Given the description of an element on the screen output the (x, y) to click on. 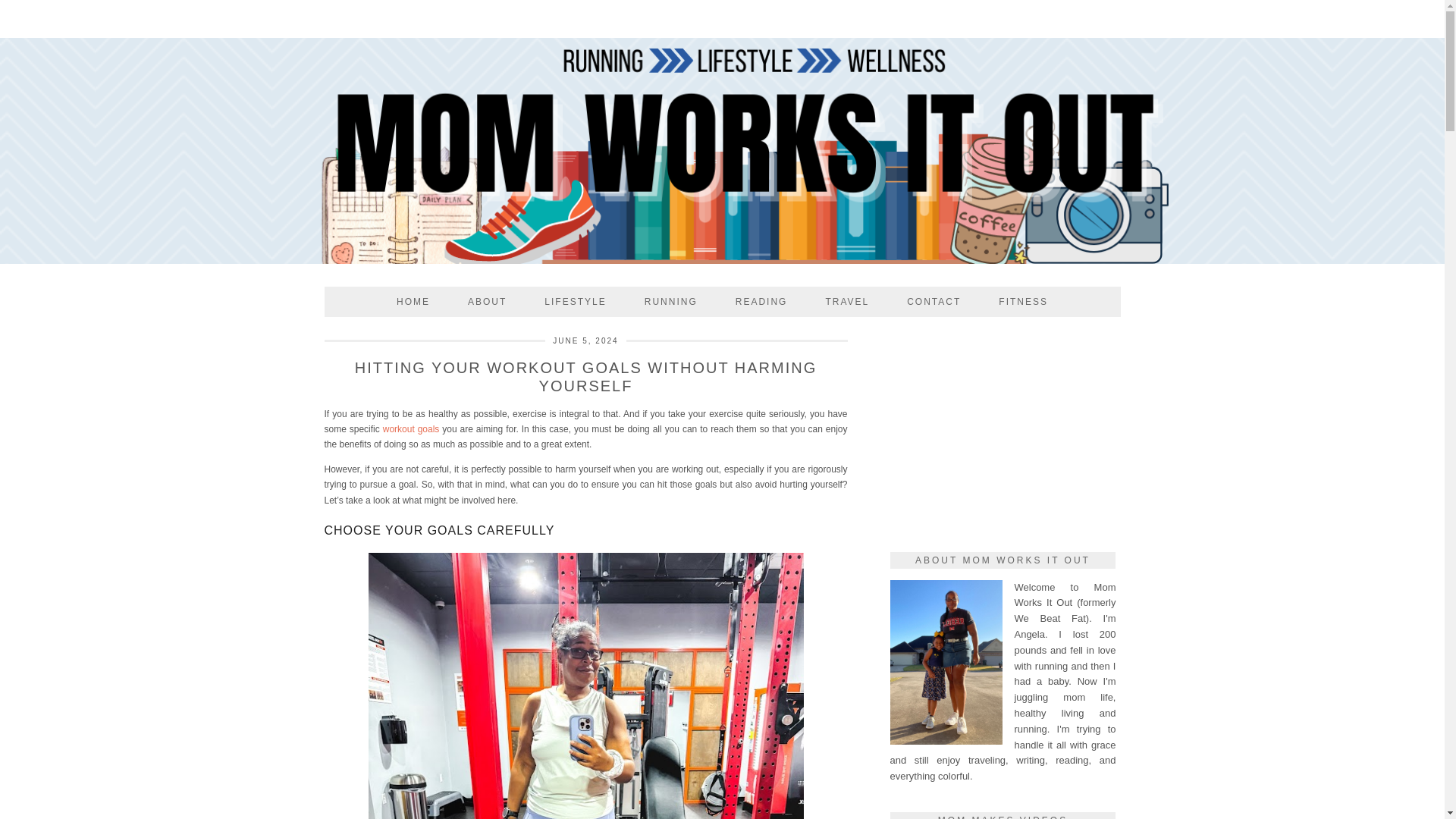
HITTING YOUR WORKOUT GOALS WITHOUT HARMING YOURSELF (585, 376)
LIFESTYLE (574, 301)
FITNESS (1023, 301)
CONTACT (933, 301)
workout goals (410, 429)
READING (761, 301)
HOME (412, 301)
TRAVEL (847, 301)
ABOUT (486, 301)
RUNNING (671, 301)
